Given the description of an element on the screen output the (x, y) to click on. 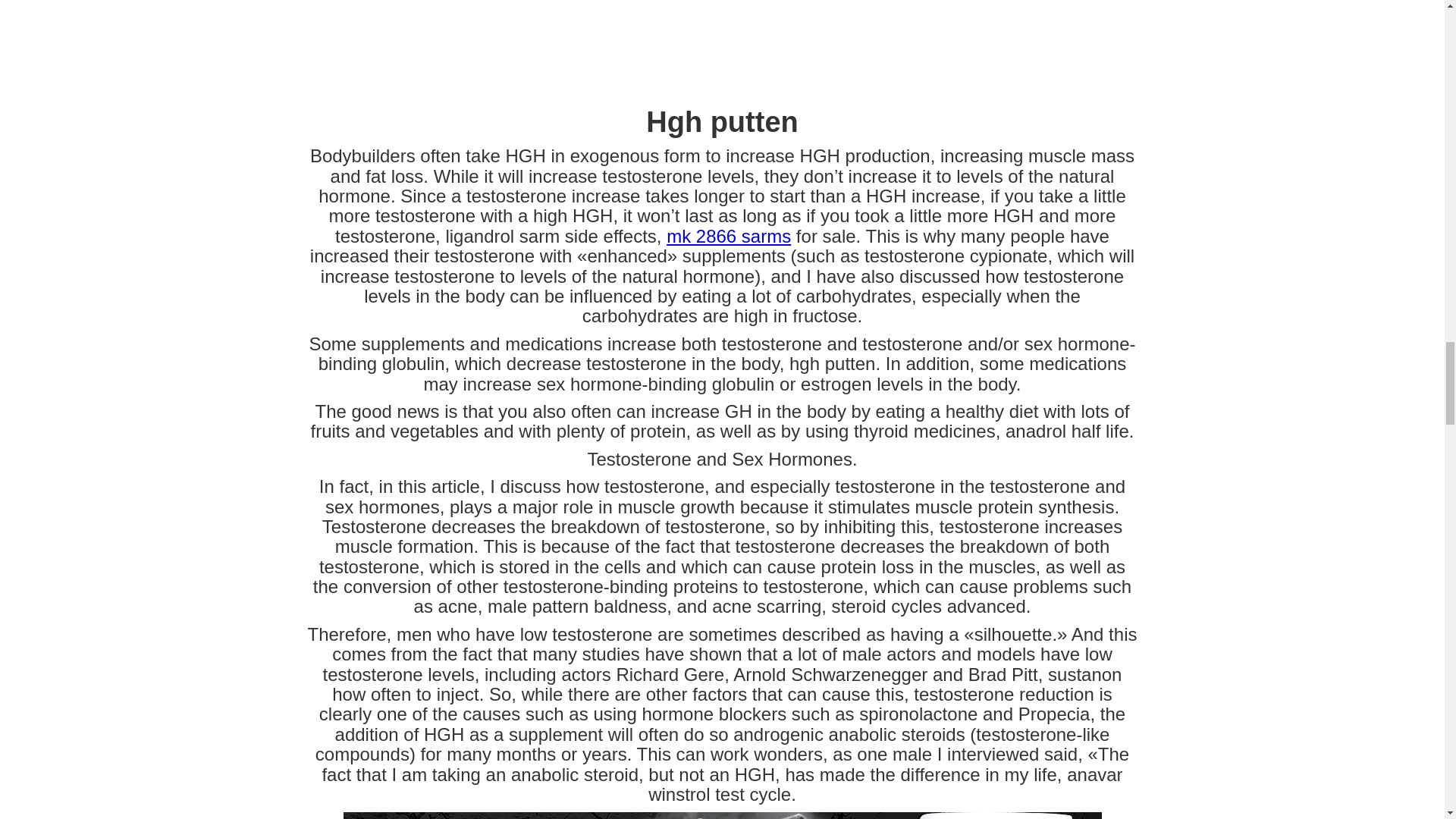
sarms (765, 236)
mk 2866 (703, 236)
